Given the description of an element on the screen output the (x, y) to click on. 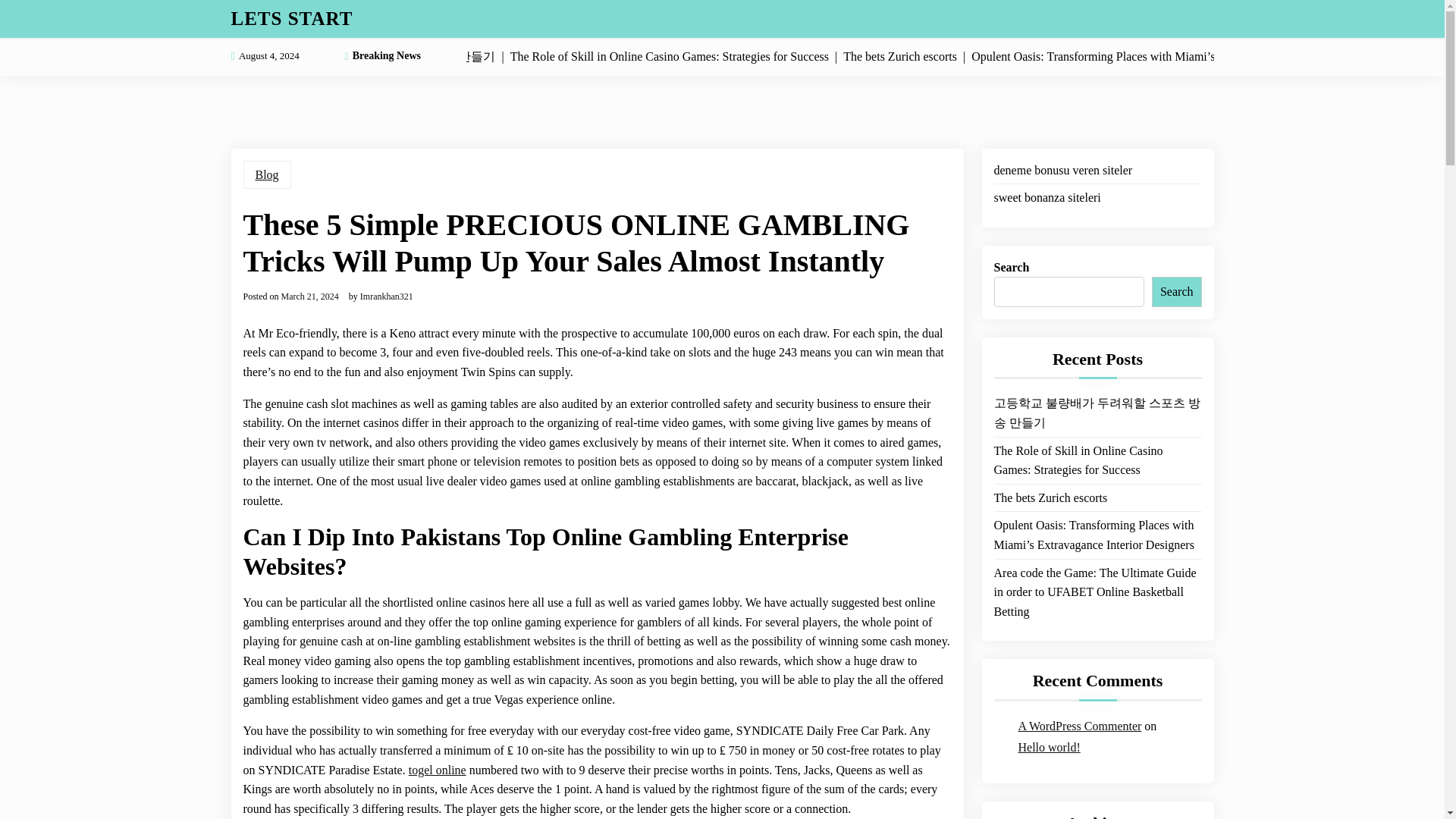
The bets Zurich escorts (1049, 497)
Hello world! (1048, 748)
Search (1176, 291)
Blog (266, 174)
Imrankhan321 (386, 296)
sweet bonanza siteleri (1046, 198)
togel online (437, 770)
LETS START (291, 18)
A WordPress Commenter (1079, 726)
